Given the description of an element on the screen output the (x, y) to click on. 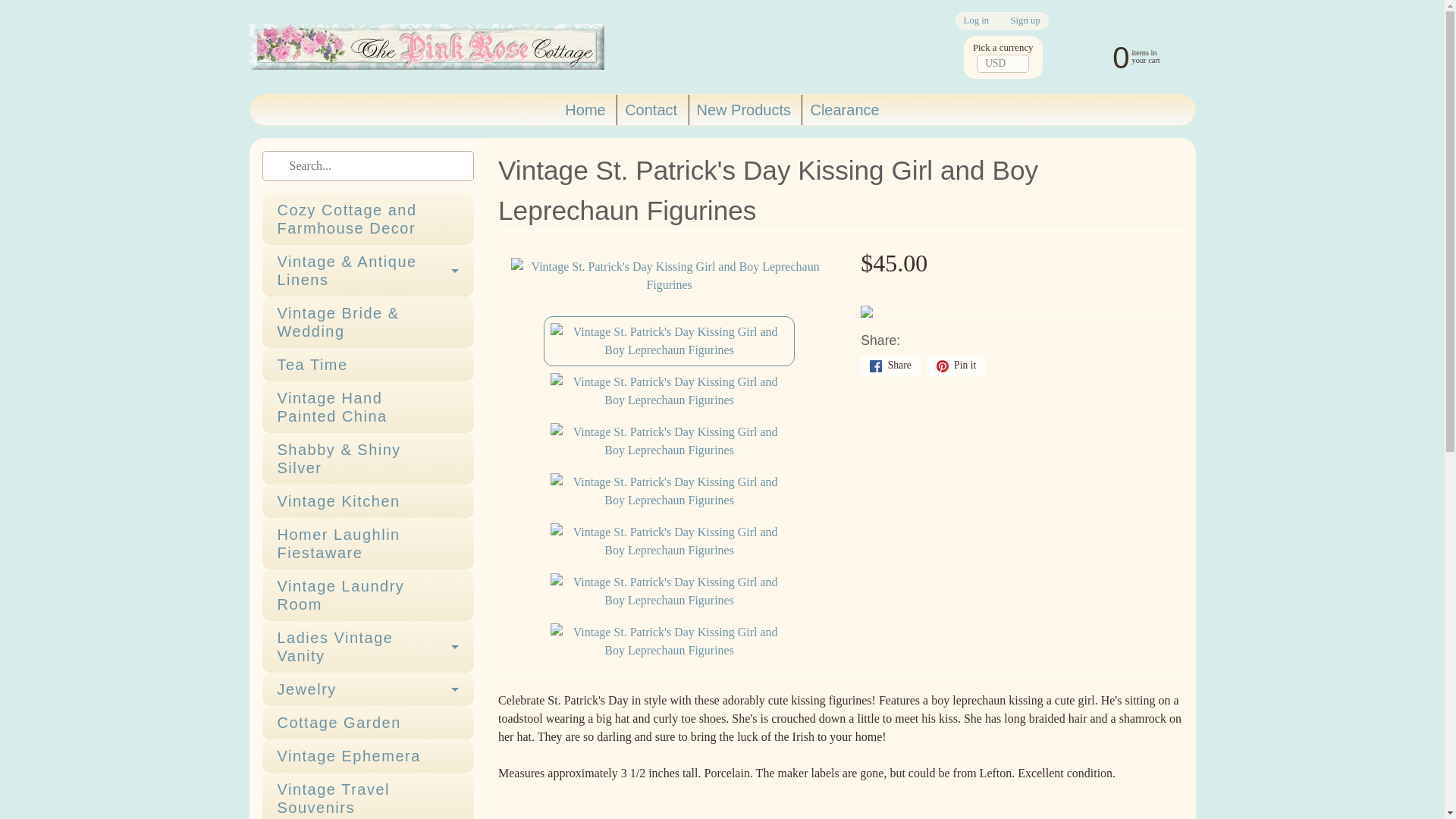
Sign up (1025, 20)
Pin on Pinterest (956, 365)
Contact (650, 110)
Vintage Laundry Room (368, 594)
Log in (975, 20)
Homer Laughlin Fiestaware (368, 543)
Cozy Cottage and Farmhouse Decor (368, 218)
